Given the description of an element on the screen output the (x, y) to click on. 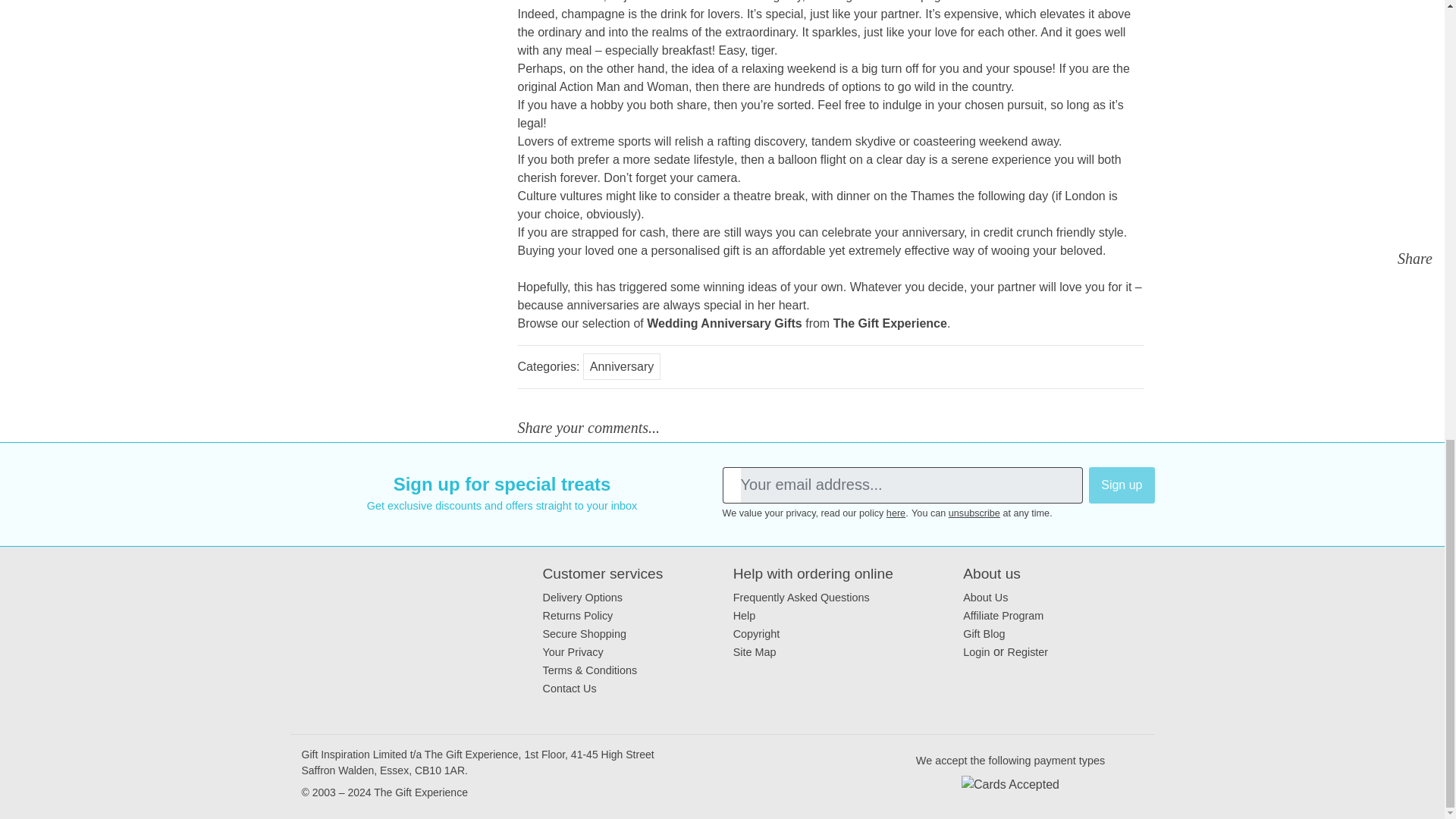
Privacy Policy (895, 512)
Returns Policy (577, 615)
Sign up (1121, 484)
Secure Shopping (584, 633)
Newsletter Unsubscribe (974, 512)
Delivery Options (583, 597)
Contact Us (569, 688)
